Given the description of an element on the screen output the (x, y) to click on. 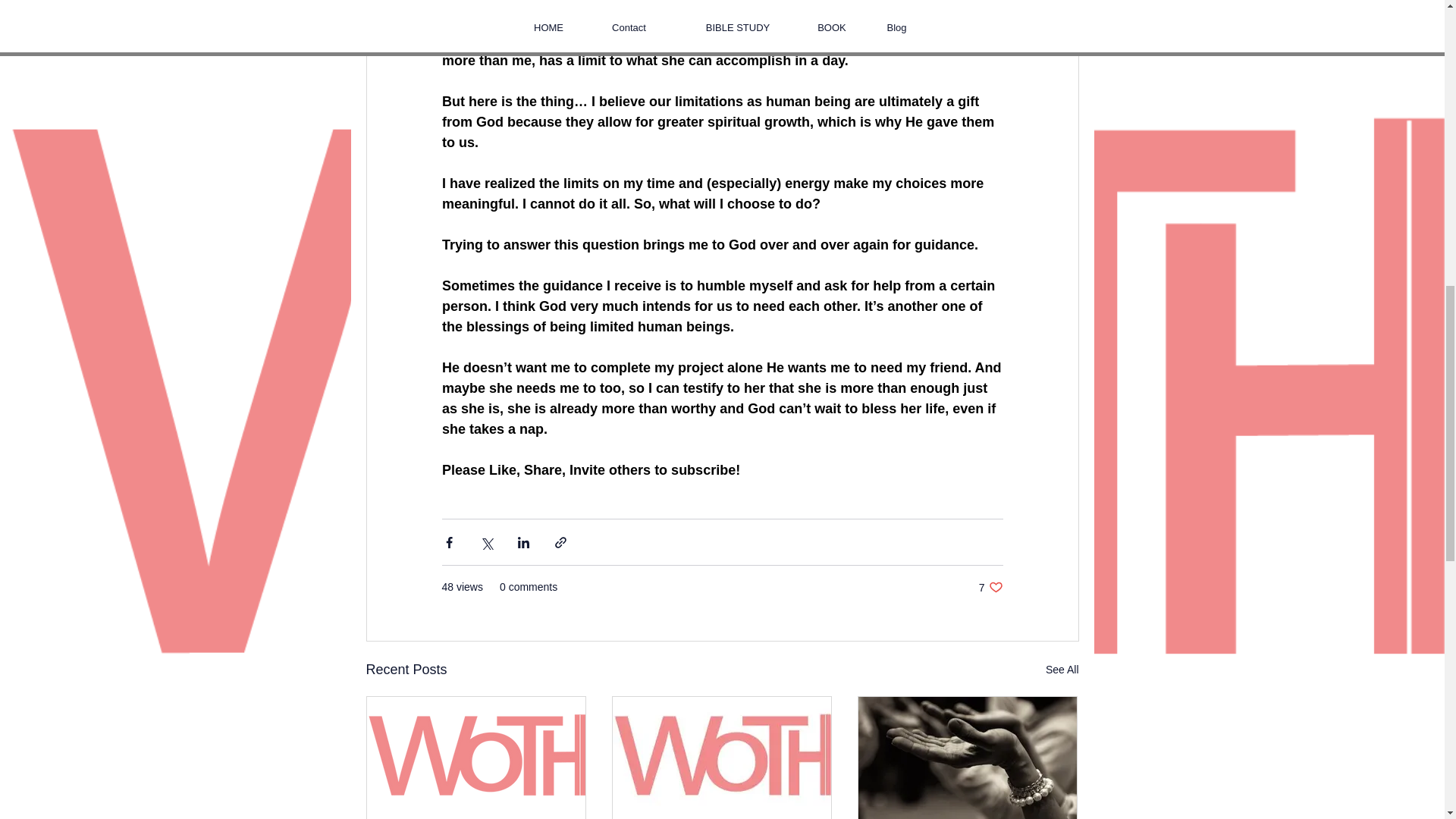
See All (1061, 669)
